Given the description of an element on the screen output the (x, y) to click on. 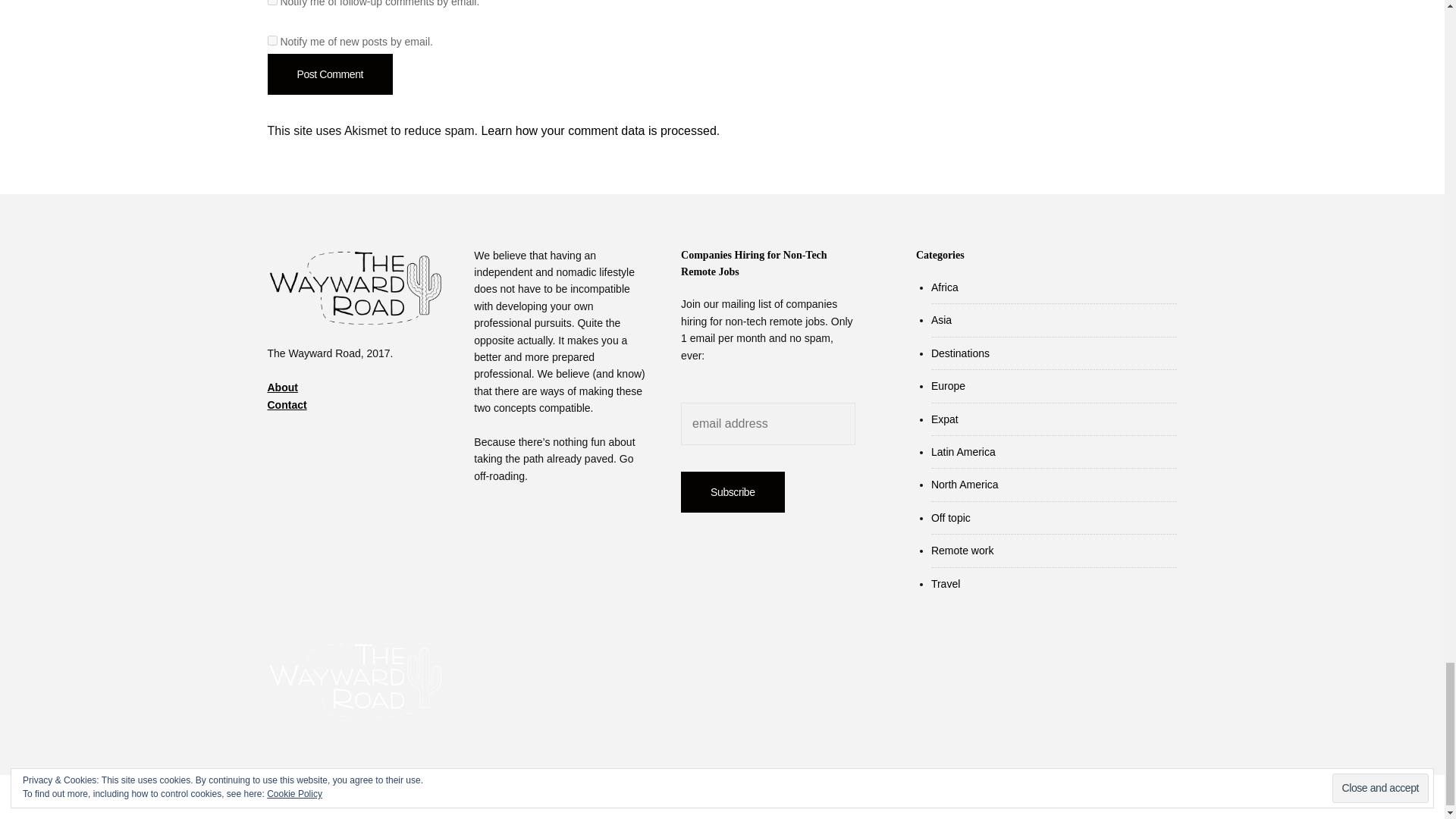
subscribe (271, 2)
subscribe (271, 40)
Post Comment (329, 74)
Subscribe (732, 491)
Learn how your comment data is processed (598, 130)
Post Comment (329, 74)
